Given the description of an element on the screen output the (x, y) to click on. 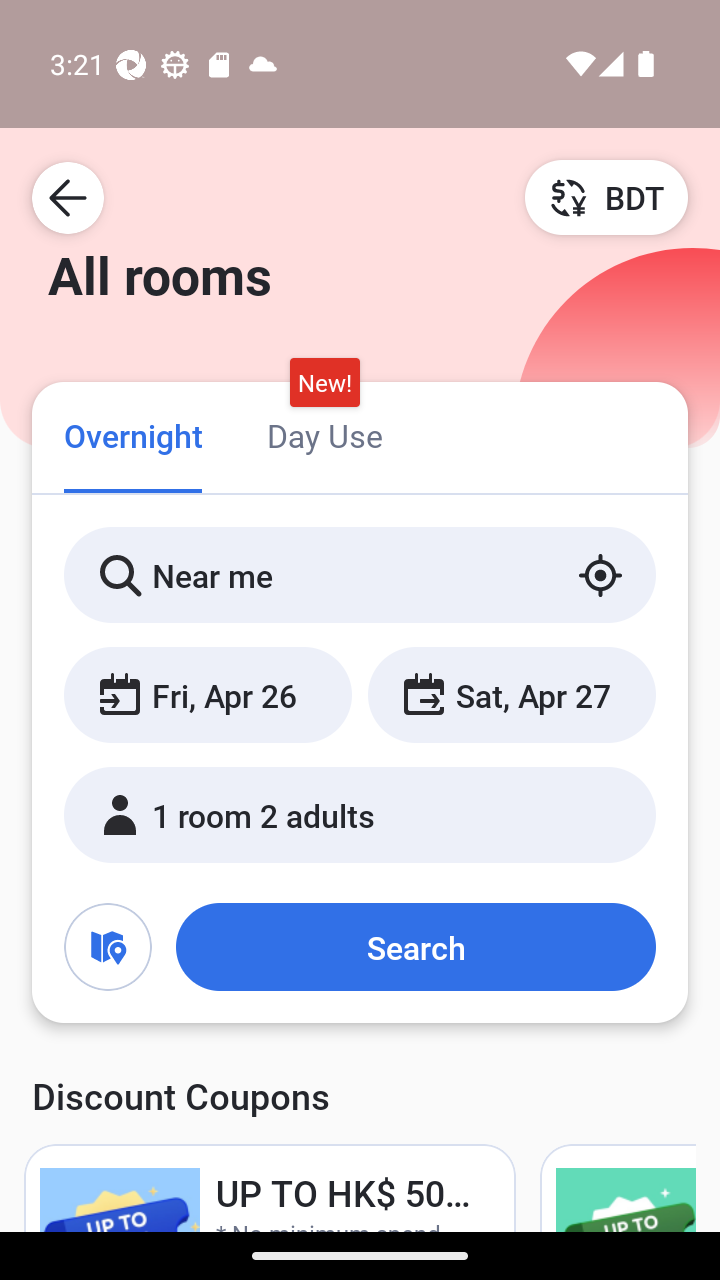
BDT (606, 197)
New! (324, 383)
Day Use (324, 434)
Near me (359, 575)
Fri, Apr 26 (208, 694)
Sat, Apr 27 (511, 694)
1 room 2 adults (359, 814)
Search (415, 946)
